Given the description of an element on the screen output the (x, y) to click on. 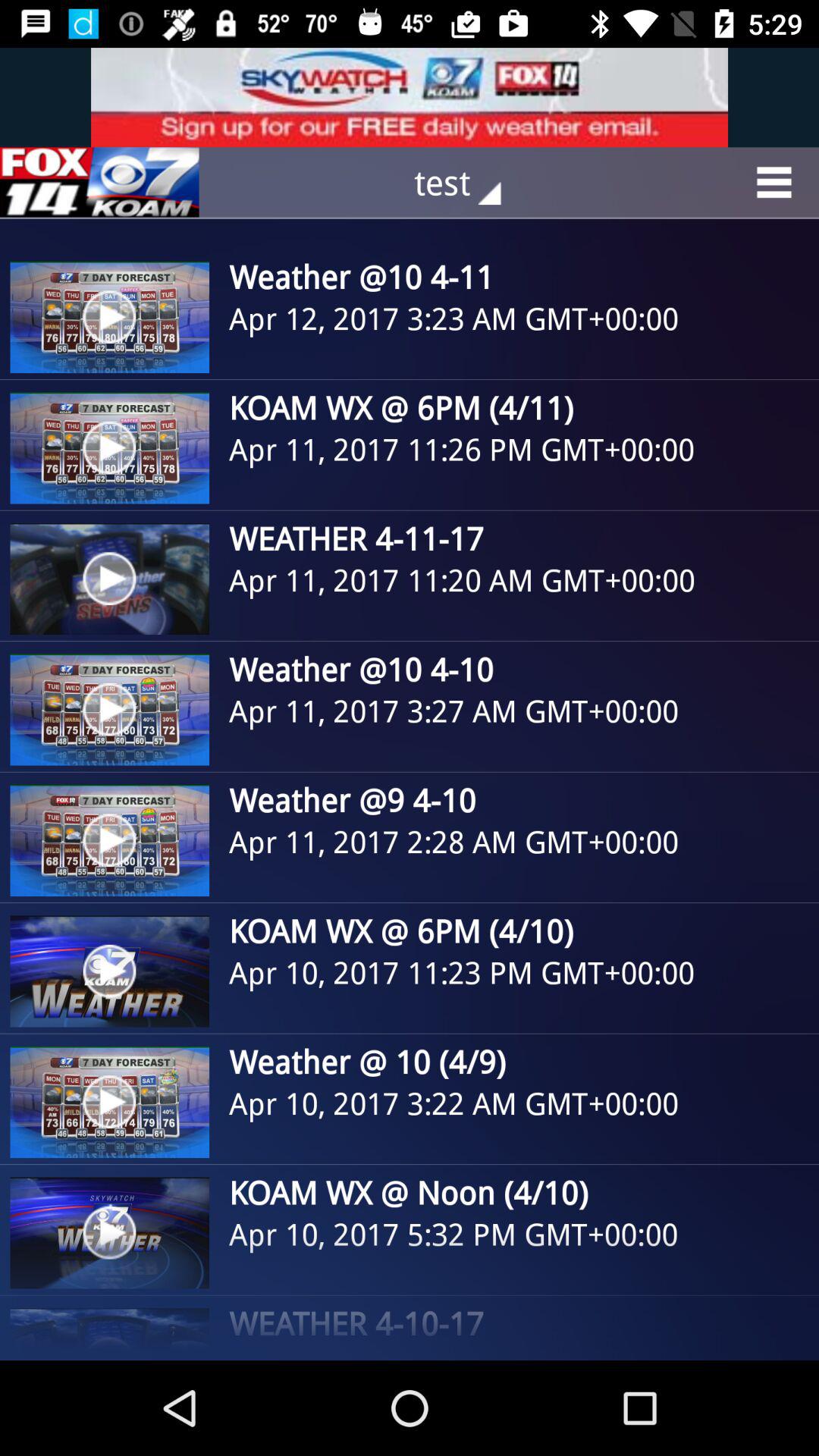
open advertisements (99, 182)
